Given the description of an element on the screen output the (x, y) to click on. 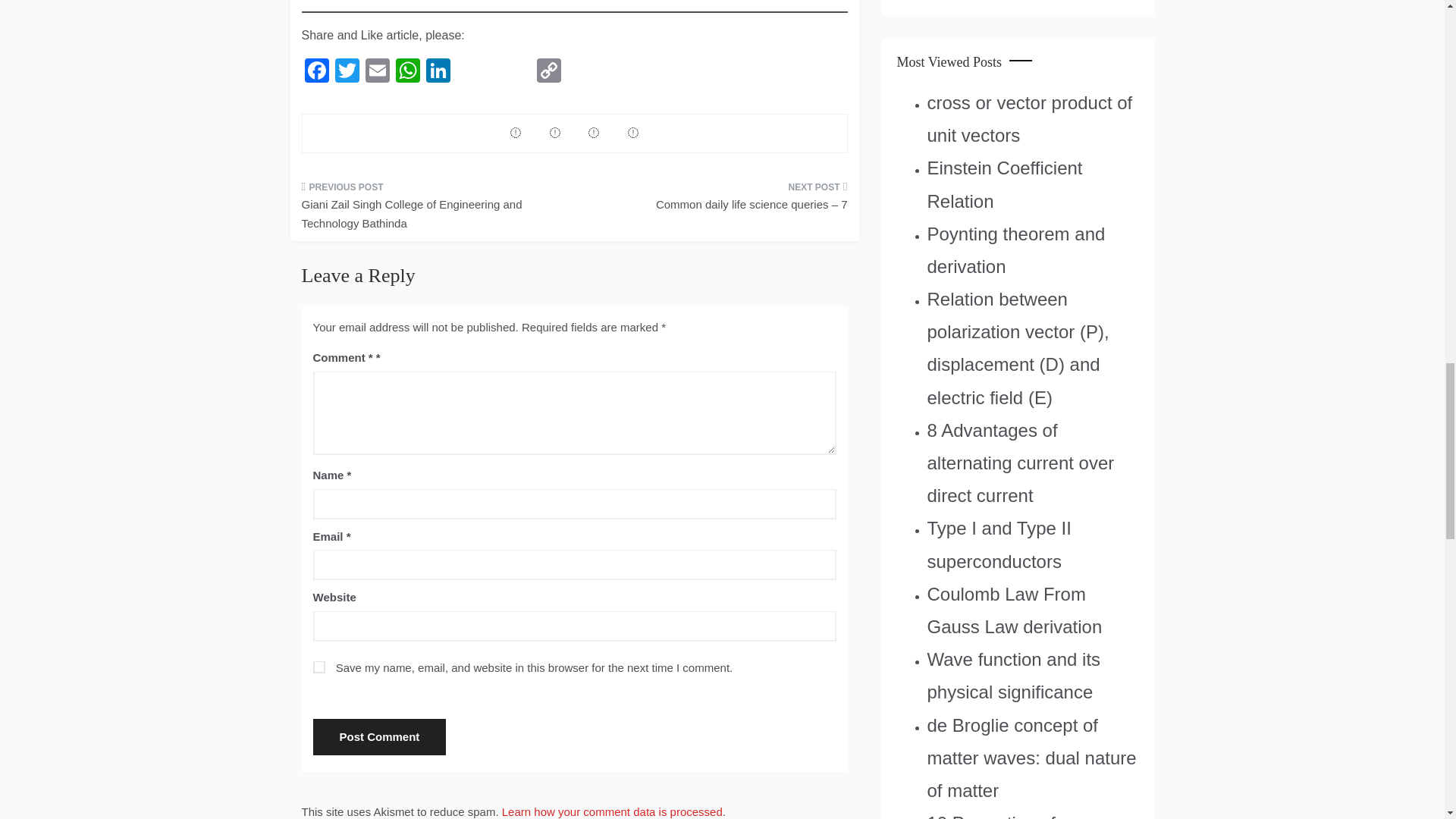
Copy Link (549, 72)
LinkedIn (437, 72)
Post Comment (379, 737)
Email (377, 72)
yes (318, 666)
Facebook (316, 72)
Facebook (316, 72)
Learn how your comment data is processed (612, 811)
Email (377, 72)
Twitter (346, 72)
